Given the description of an element on the screen output the (x, y) to click on. 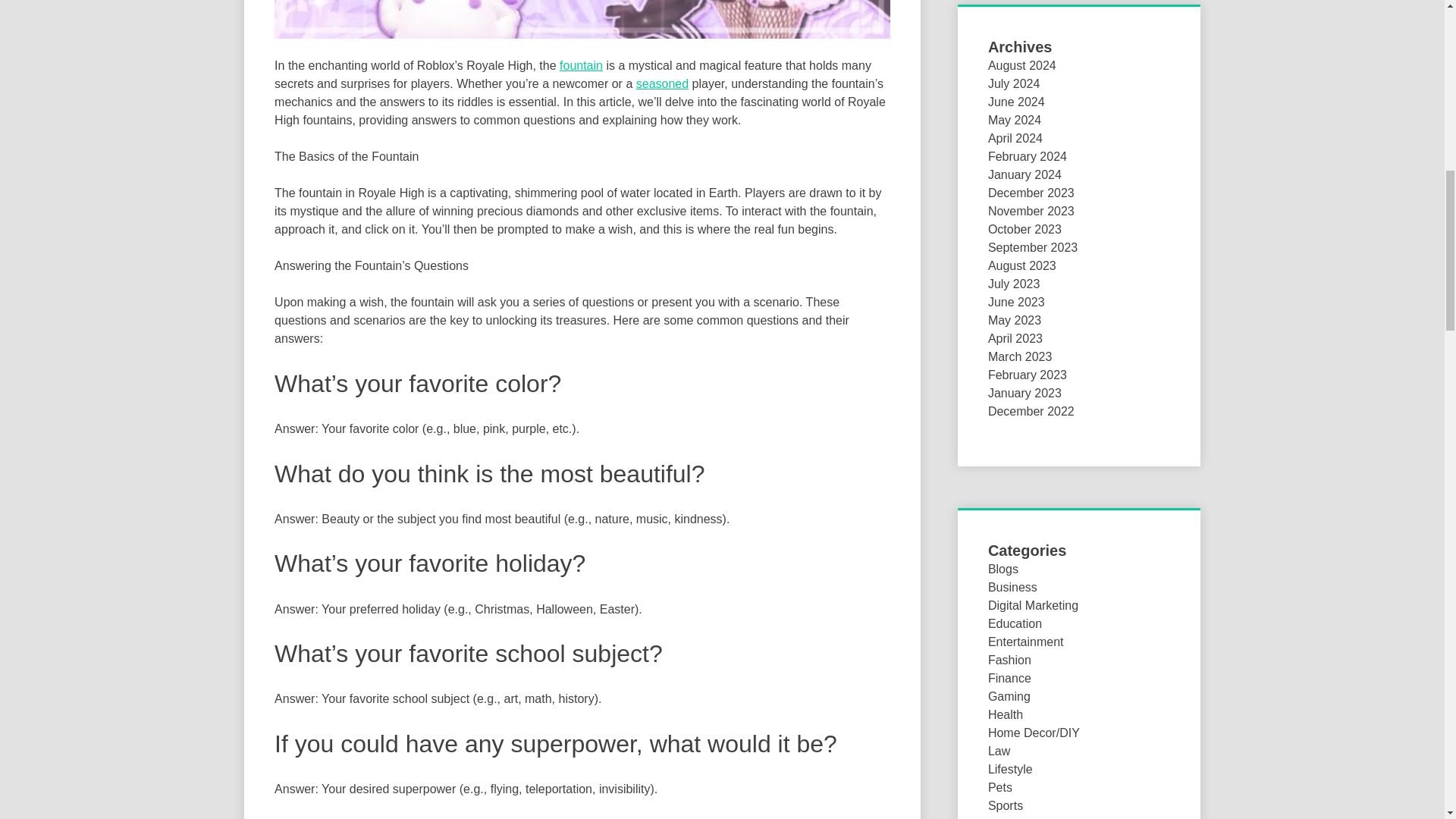
fountain (580, 65)
seasoned (662, 83)
